Given the description of an element on the screen output the (x, y) to click on. 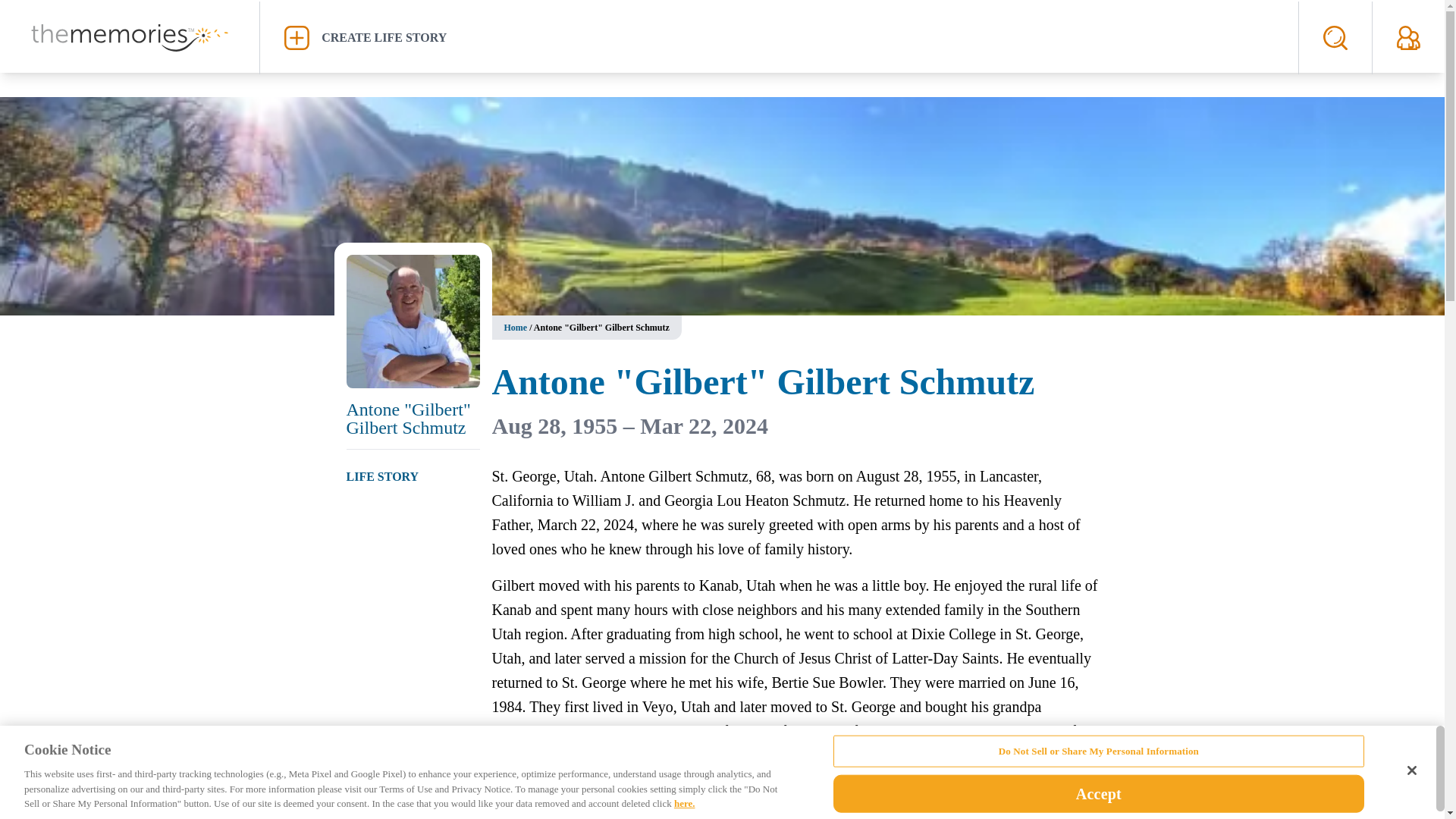
My Account (1408, 37)
LIFE STORY (382, 476)
CREATE LIFE STORY (778, 37)
Accept (1098, 793)
here. (684, 803)
Create a life story (778, 37)
Do Not Sell or Share My Personal Information (1098, 751)
Home (515, 327)
